Given the description of an element on the screen output the (x, y) to click on. 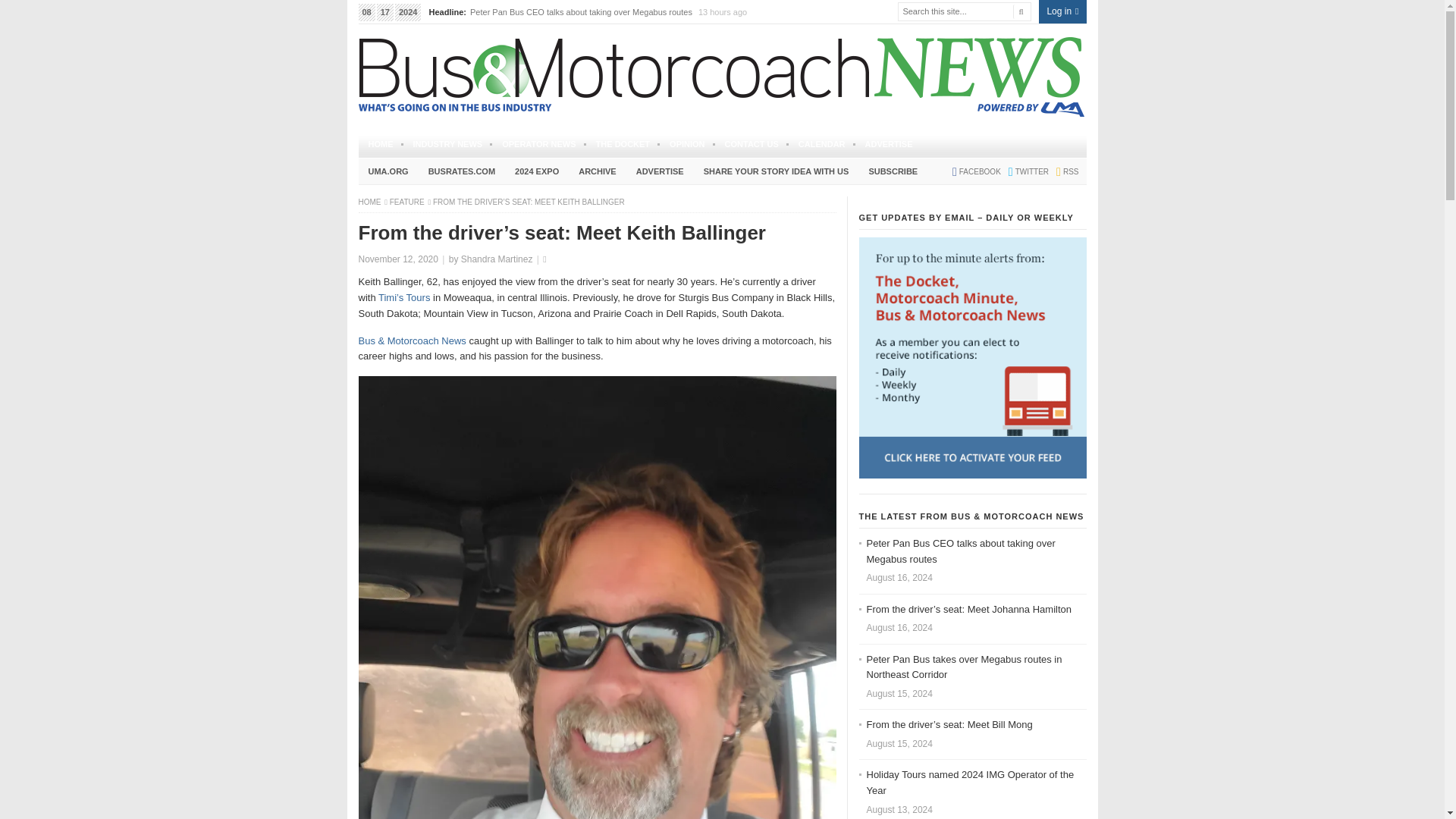
CONTACT US (751, 144)
RSS (1063, 172)
BUSRATES.COM (462, 171)
Peter Pan Bus CEO talks about taking over Megabus routes (582, 11)
Twitter (1024, 172)
Log in (1062, 11)
THE DOCKET (623, 144)
UMA.ORG (387, 171)
HOME (380, 144)
OPERATOR NEWS (538, 144)
